Given the description of an element on the screen output the (x, y) to click on. 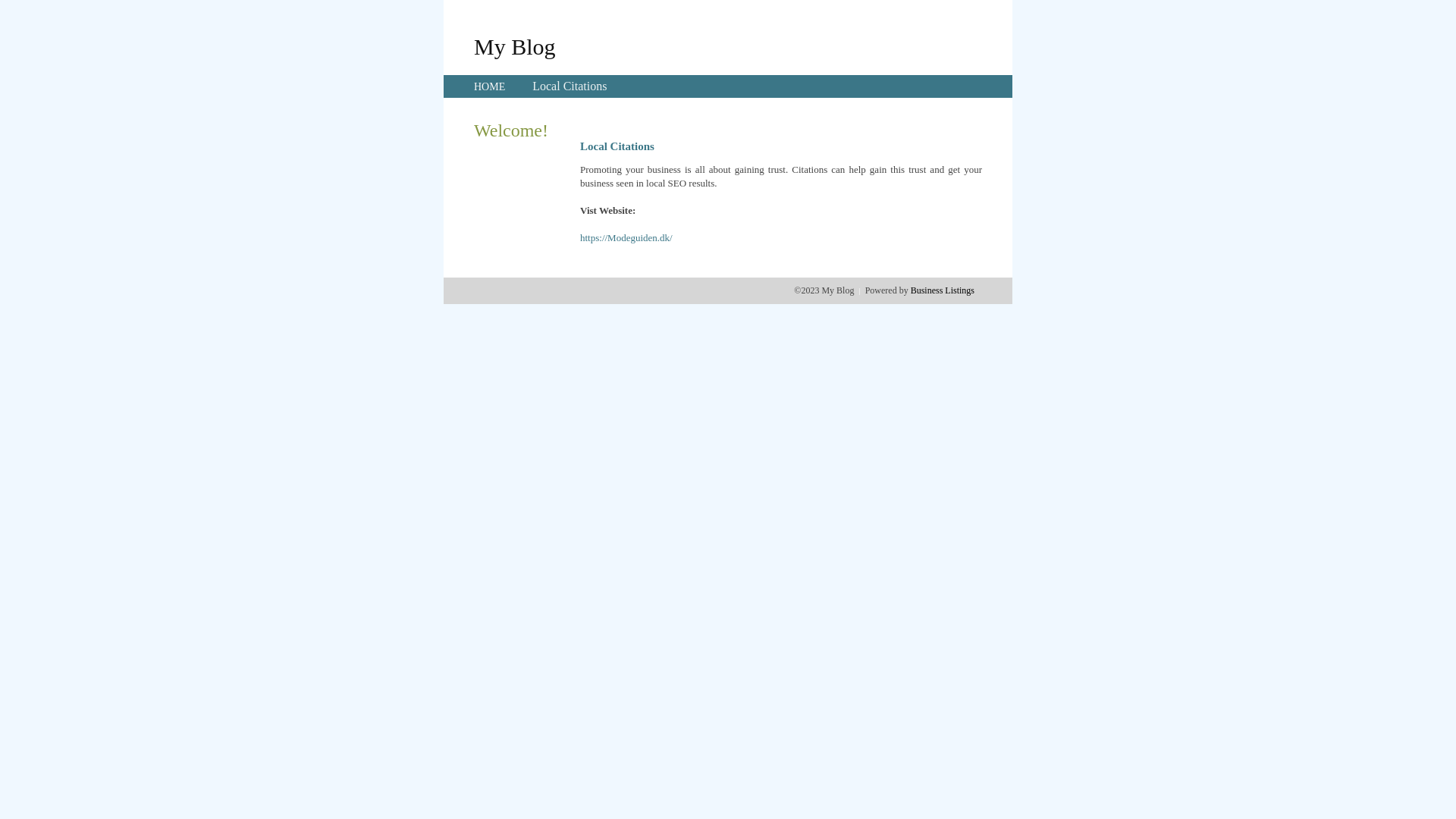
Local Citations Element type: text (569, 85)
HOME Element type: text (489, 86)
https://Modeguiden.dk/ Element type: text (626, 237)
Business Listings Element type: text (942, 290)
My Blog Element type: text (514, 46)
